Given the description of an element on the screen output the (x, y) to click on. 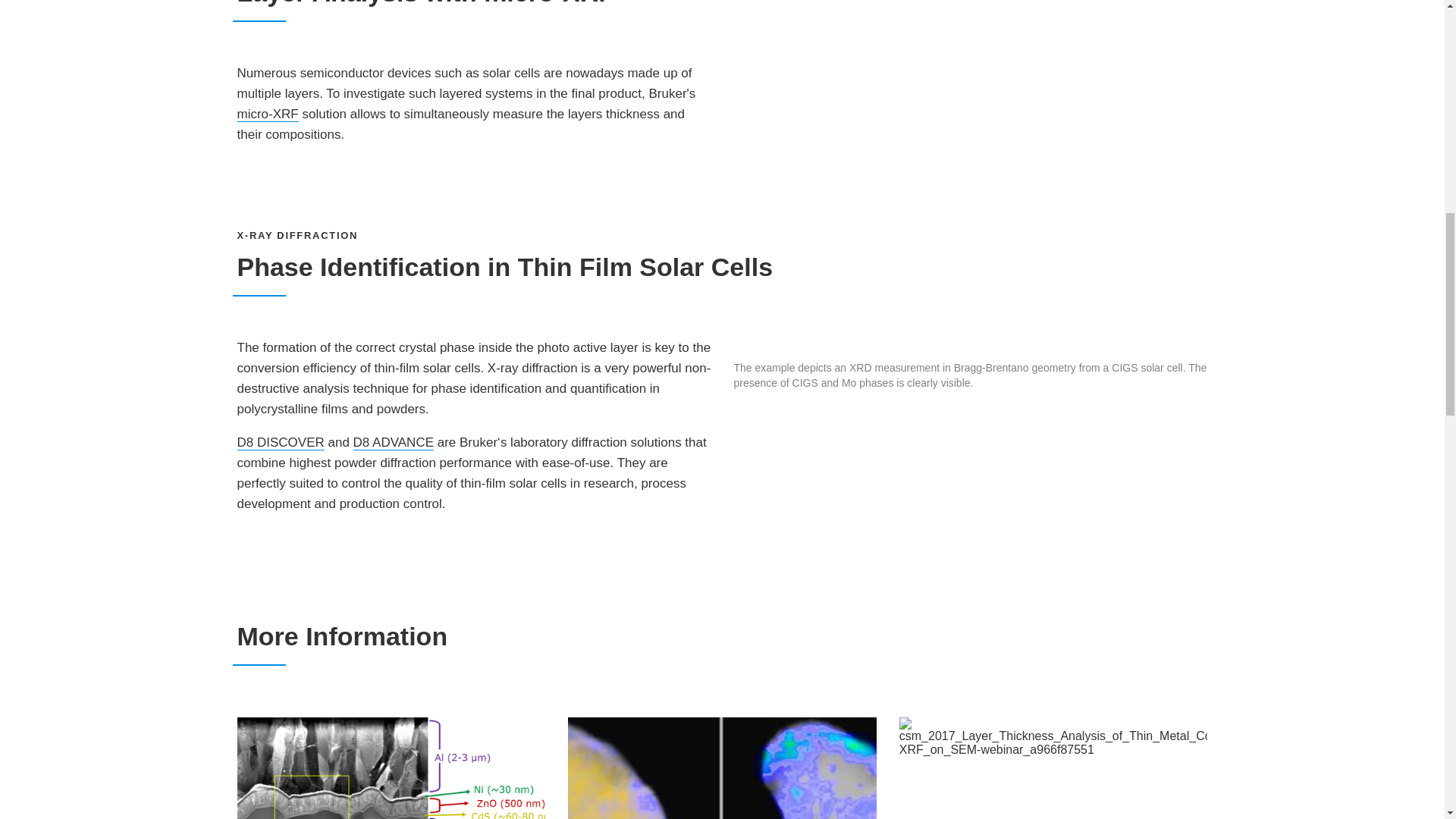
micro-XRF (266, 114)
D8 DISCOVER (279, 442)
D8 ADVANCE (393, 442)
Analyze Elements in Low-Yield Materials (389, 762)
